Given the description of an element on the screen output the (x, y) to click on. 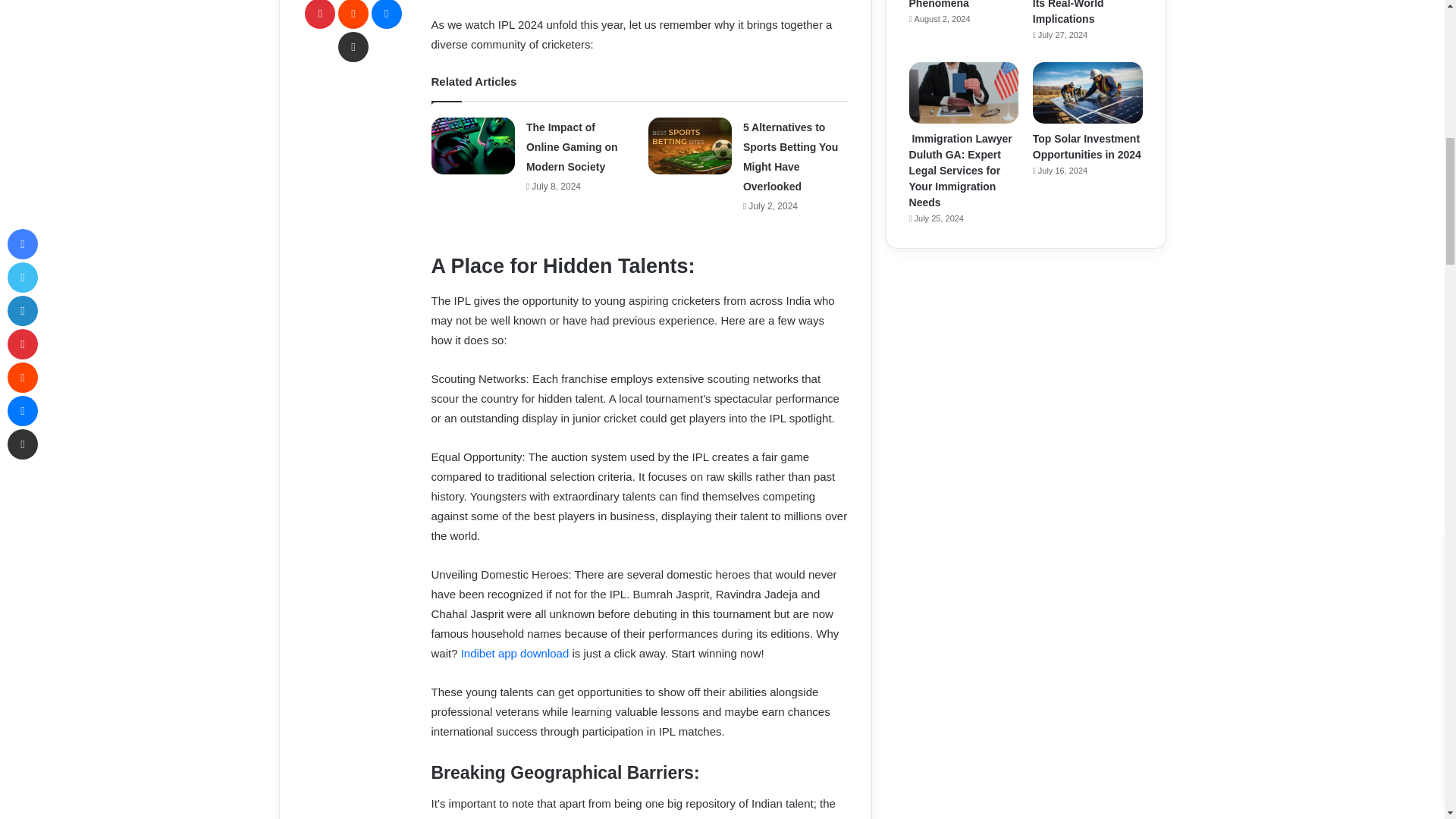
5 Alternatives to Sports Betting You Might Have Overlooked (790, 156)
Messenger (386, 14)
Share via Email (352, 46)
Reddit (352, 14)
Pinterest (319, 14)
Indibet app download (515, 653)
The Impact of Online Gaming on Modern Society (571, 146)
Pinterest (319, 14)
